Given the description of an element on the screen output the (x, y) to click on. 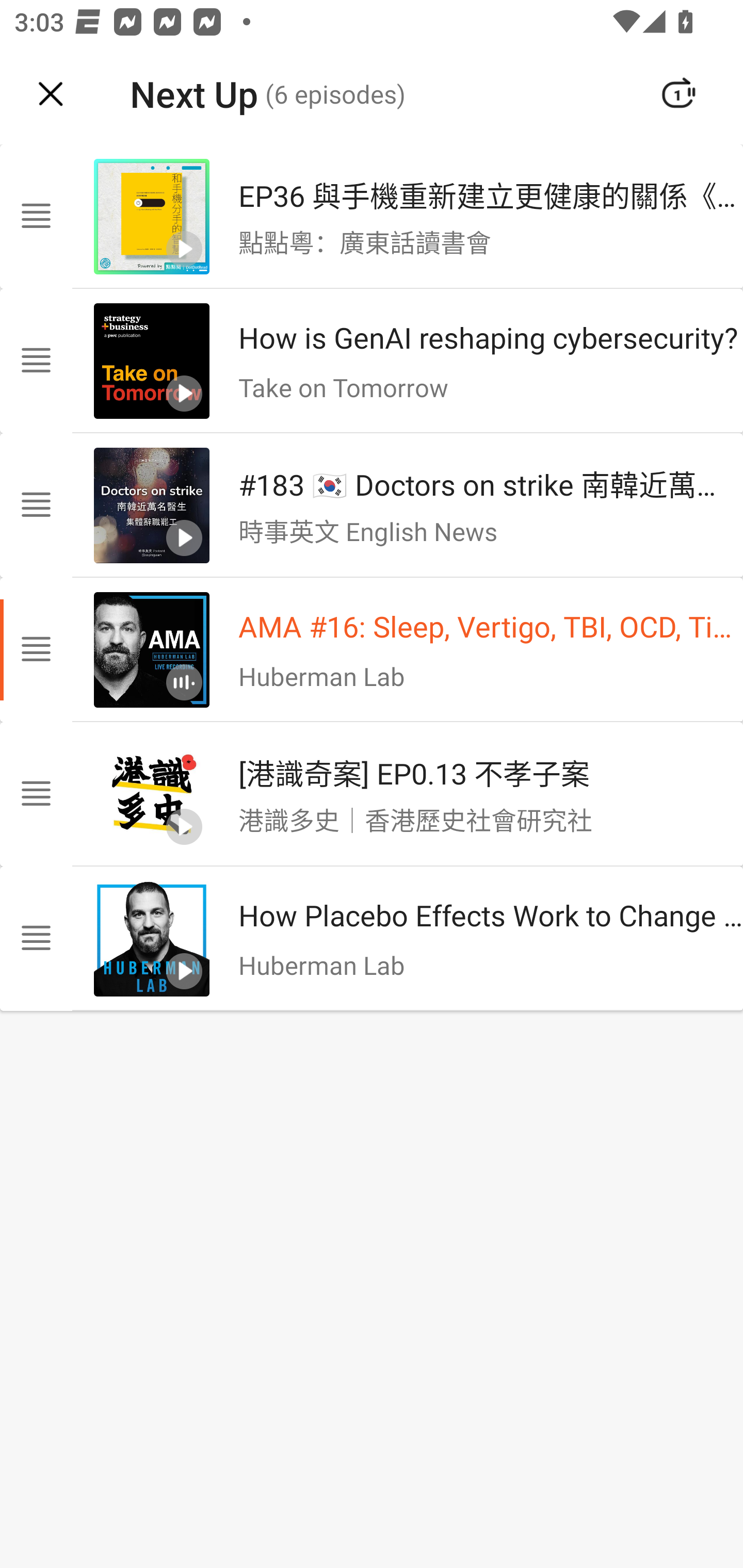
Navigate up (50, 93)
